Given the description of an element on the screen output the (x, y) to click on. 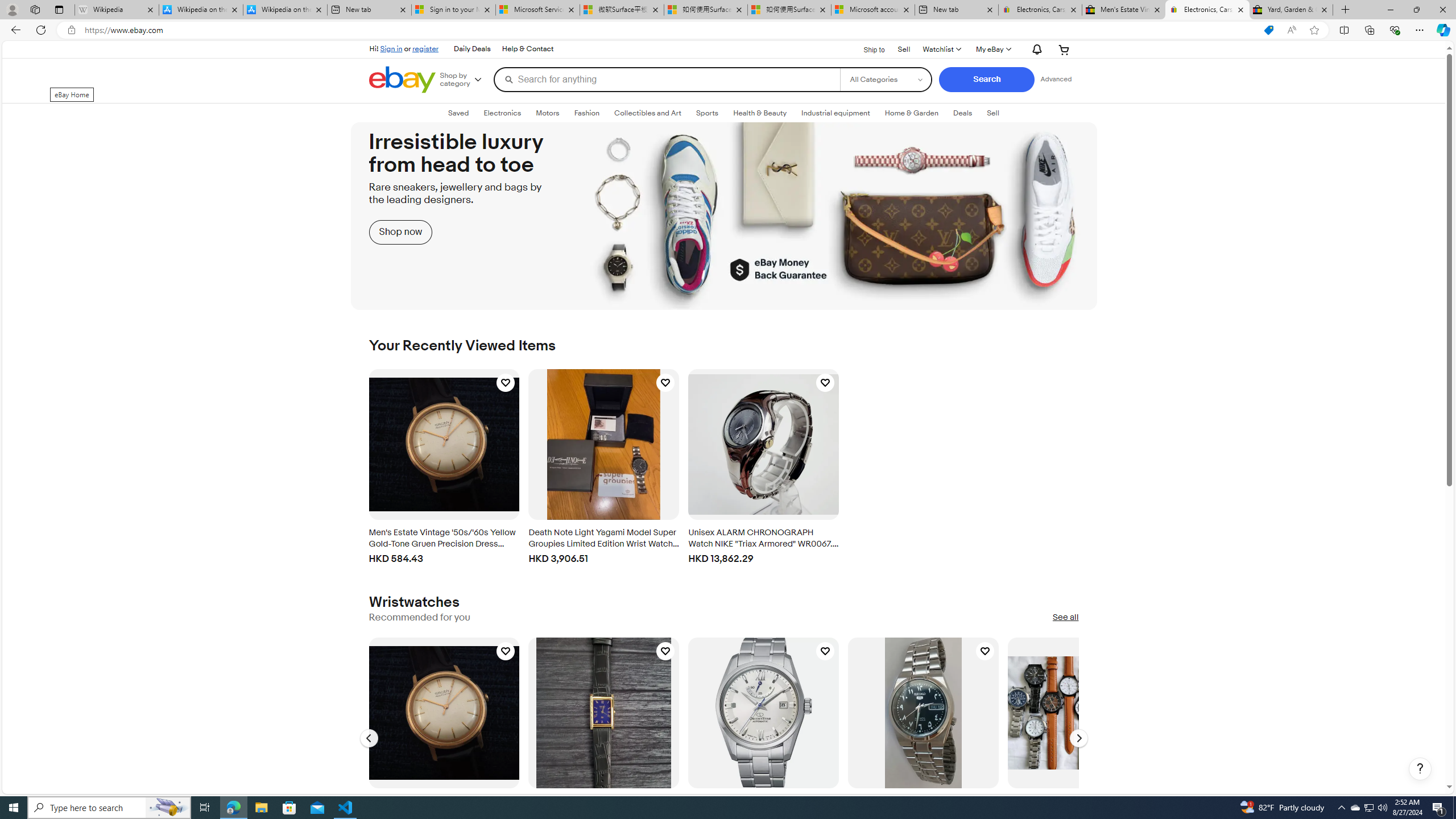
Shop by category (464, 79)
Fashion (586, 112)
Motors (547, 112)
Sign in to your Microsoft account (453, 9)
Home & Garden (911, 112)
Collectibles and ArtExpand: Collectibles and Art (647, 112)
WatchlistExpand Watch List (940, 49)
Microsoft account | Account Checkup (873, 9)
